Given the description of an element on the screen output the (x, y) to click on. 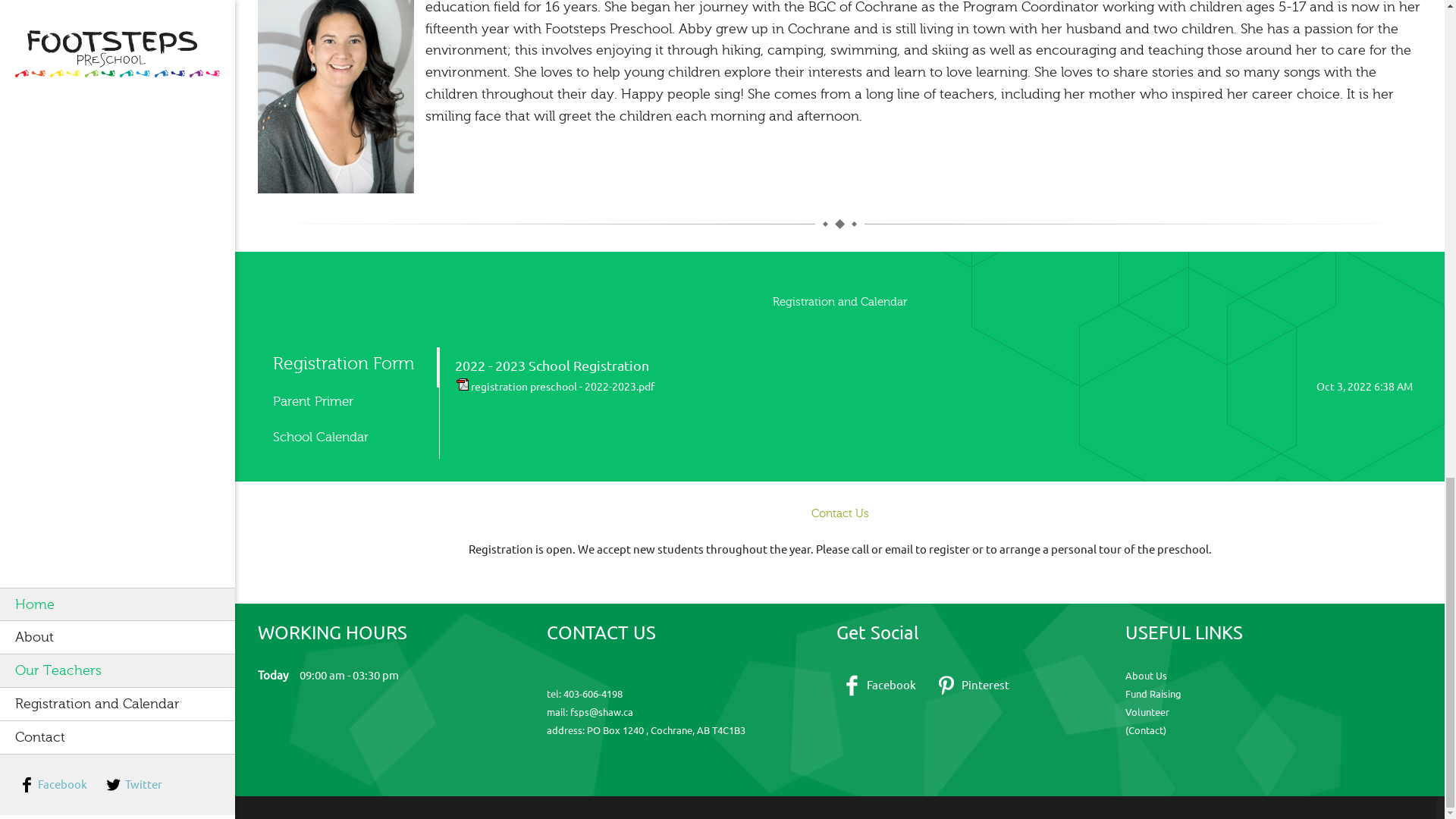
Parent Primer (343, 401)
School Calendar (343, 437)
registration preschool - 2022-2023.pdf (561, 386)
Registration Form (346, 363)
